Given the description of an element on the screen output the (x, y) to click on. 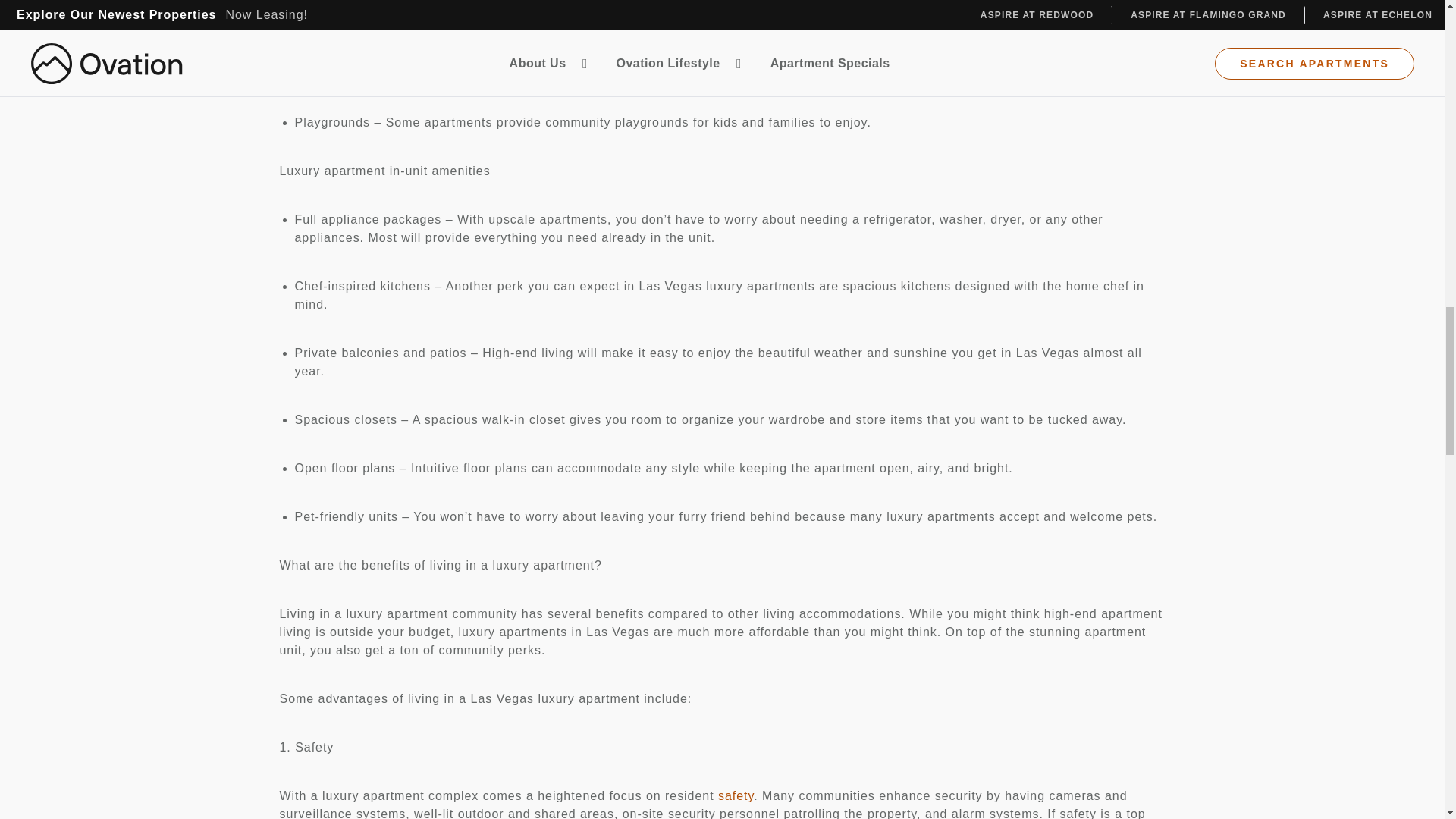
safety (735, 795)
